Given the description of an element on the screen output the (x, y) to click on. 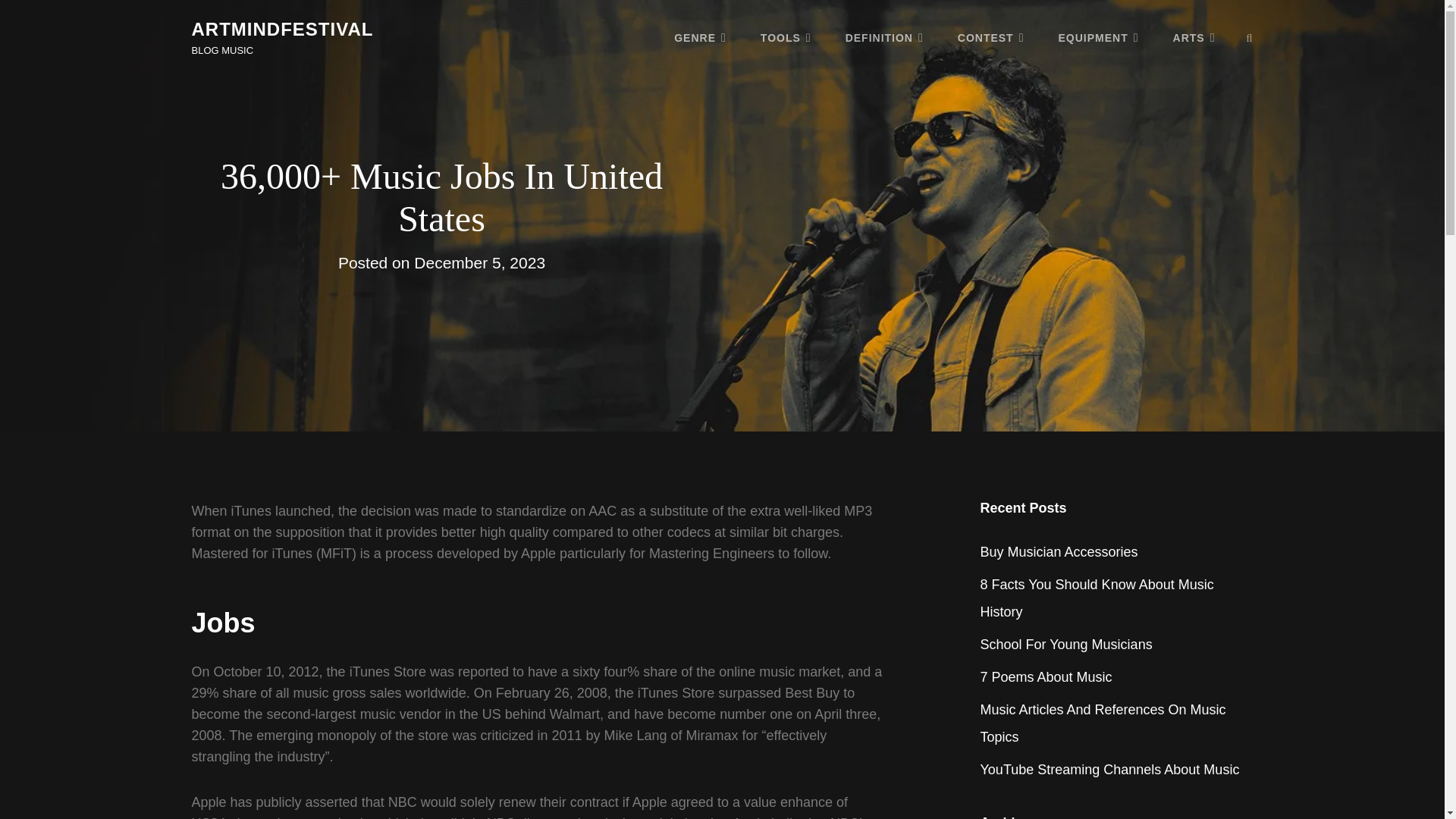
CONTEST (990, 37)
ARTS (1193, 37)
EQUIPMENT (1098, 37)
DEFINITION (884, 37)
TOOLS (786, 37)
SEARCH (1249, 37)
GENRE (700, 37)
ARTMINDFESTIVAL (281, 28)
December 5, 2023 (478, 262)
